Given the description of an element on the screen output the (x, y) to click on. 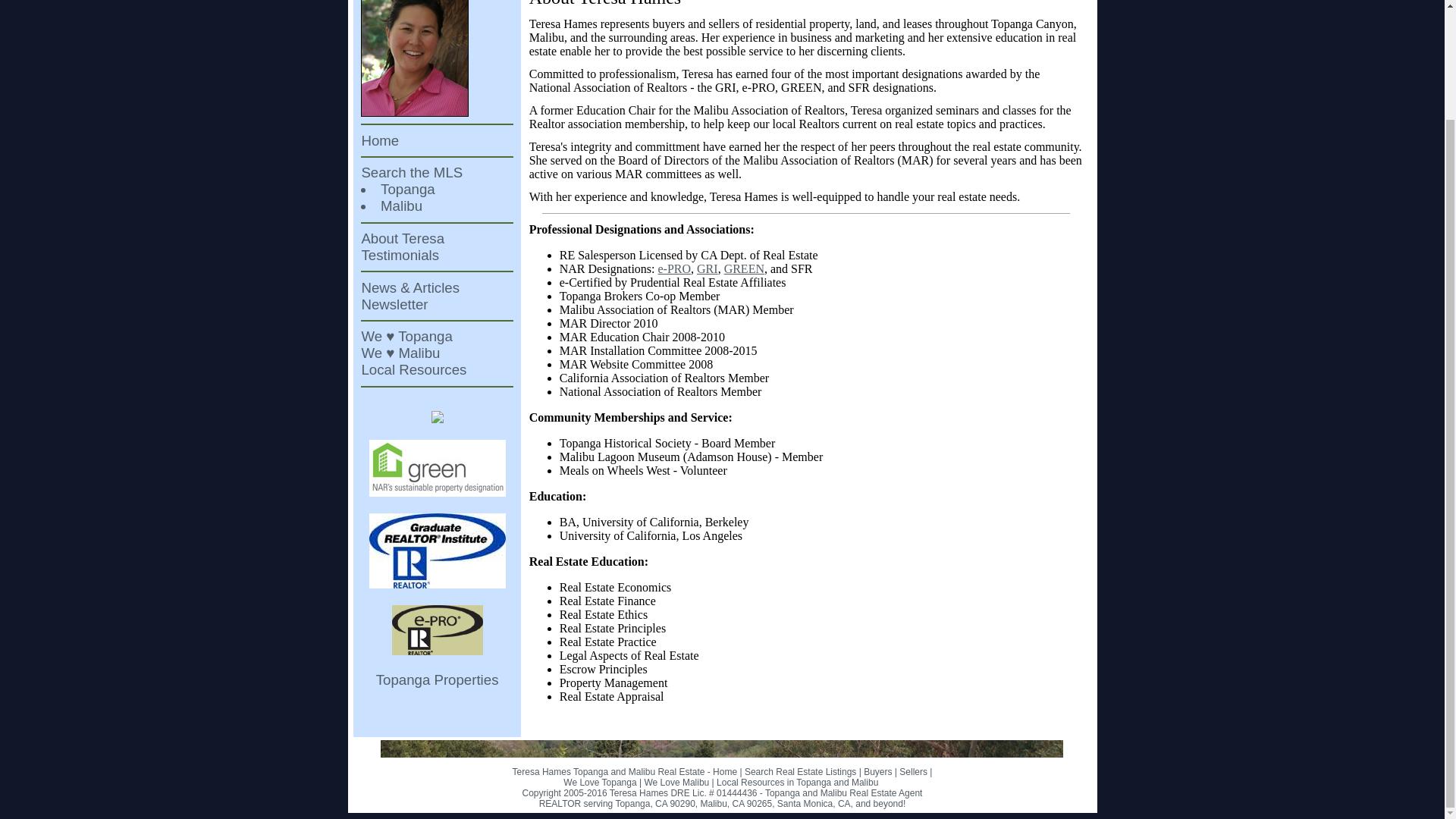
e-PRO (674, 268)
Local Resources in Topanga and Malibu (796, 782)
Buyers (877, 771)
We Love Malibu (676, 782)
GREEN (743, 268)
Topanga (407, 188)
Testimonials (400, 254)
Teresa Hames Topanga and Malibu Real Estate - Home (625, 771)
Search Real Estate Listings (800, 771)
We Love Topanga (599, 782)
